Given the description of an element on the screen output the (x, y) to click on. 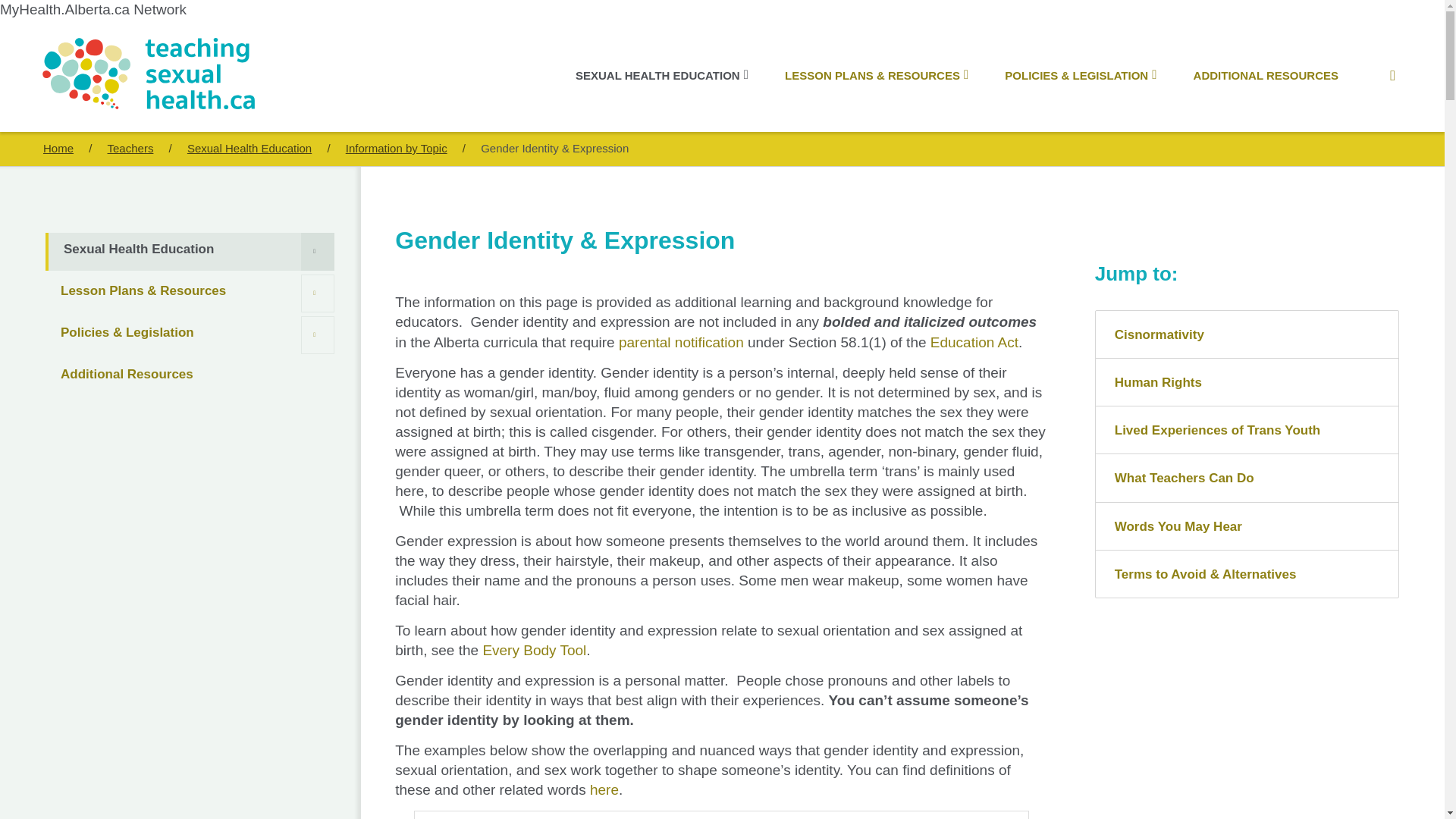
Go to Home. (130, 147)
SEXUAL HEALTH EDUCATION (662, 75)
Go to Sexual Health Education. (249, 147)
Sexual Health Education (191, 251)
Go to Information by Topic. (396, 147)
Go to Teaching Sexual Health Sites. (58, 147)
